Given the description of an element on the screen output the (x, y) to click on. 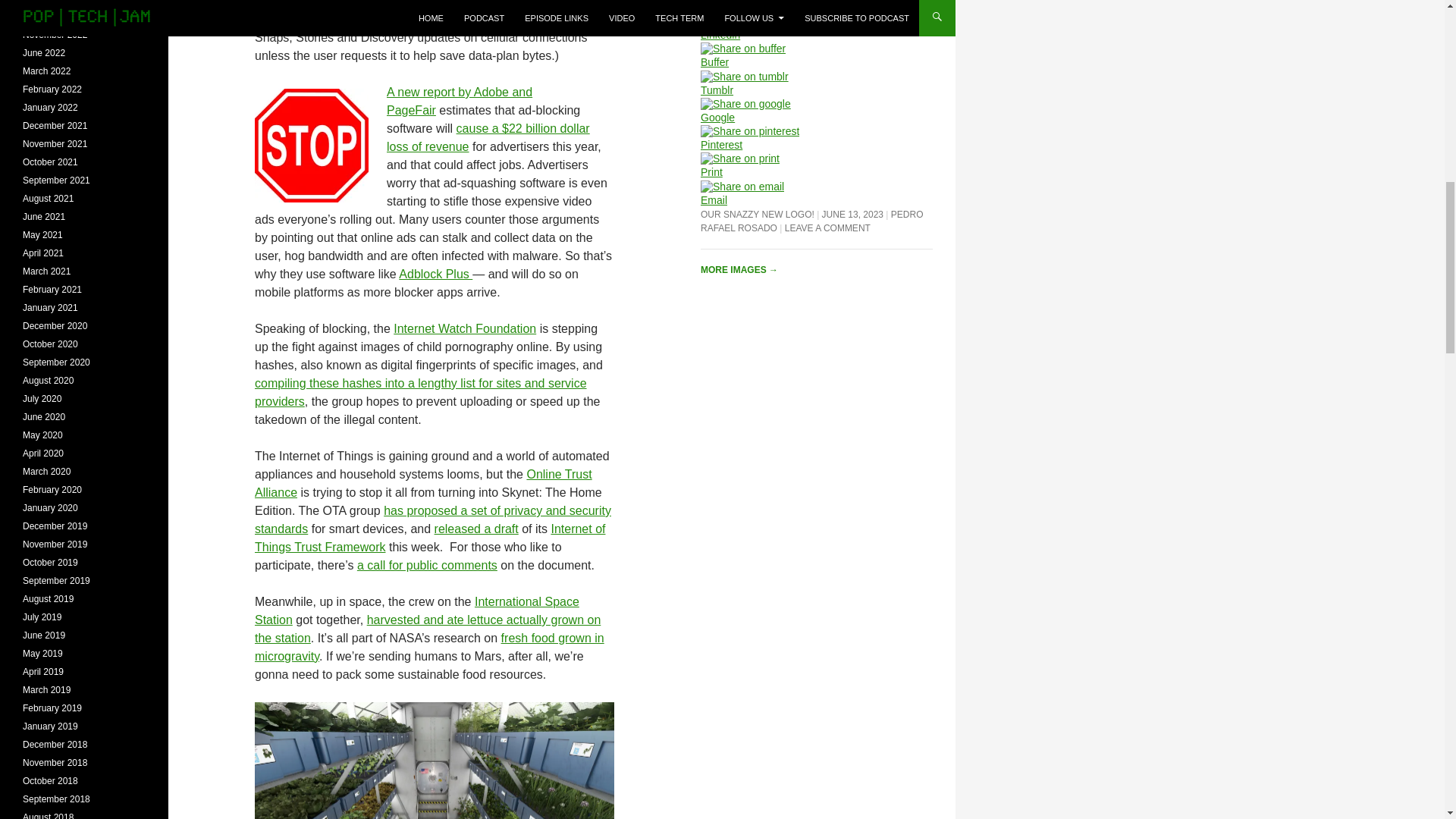
, Snapchat has introduced a new Travel Mode (425, 12)
Internet Watch Foundation (464, 328)
has proposed a set of privacy and security standards (432, 519)
A new report by Adobe and PageFair (459, 101)
Adblock Plus (434, 273)
released a draft (475, 528)
Online Trust Alliance (423, 482)
